Given the description of an element on the screen output the (x, y) to click on. 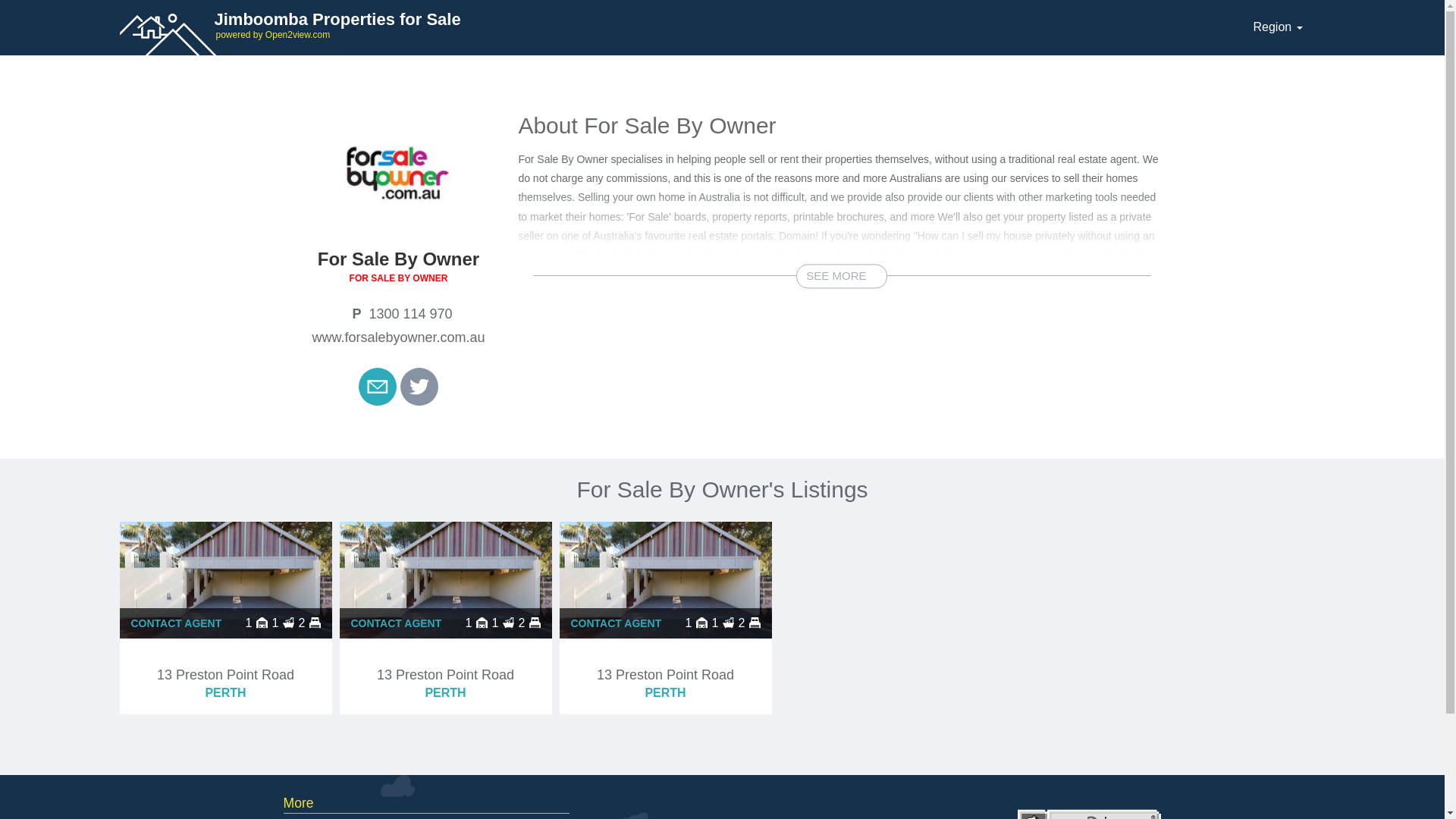
Jimboomba Properties for Sale (676, 24)
